Given the description of an element on the screen output the (x, y) to click on. 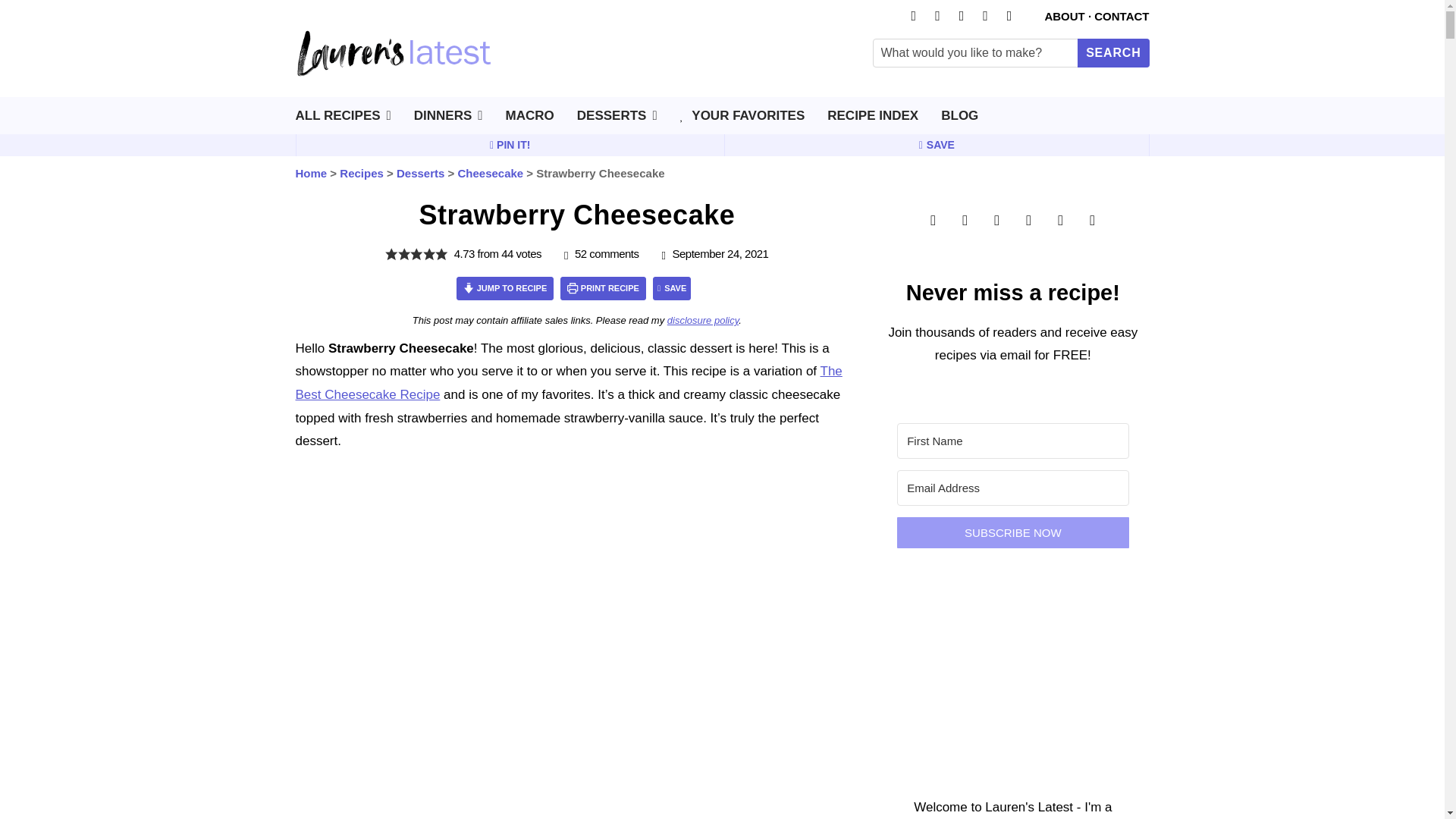
Search (1112, 52)
ABOUT (1063, 15)
Search (1112, 52)
Pin It! (509, 144)
CONTACT (1121, 15)
